Given the description of an element on the screen output the (x, y) to click on. 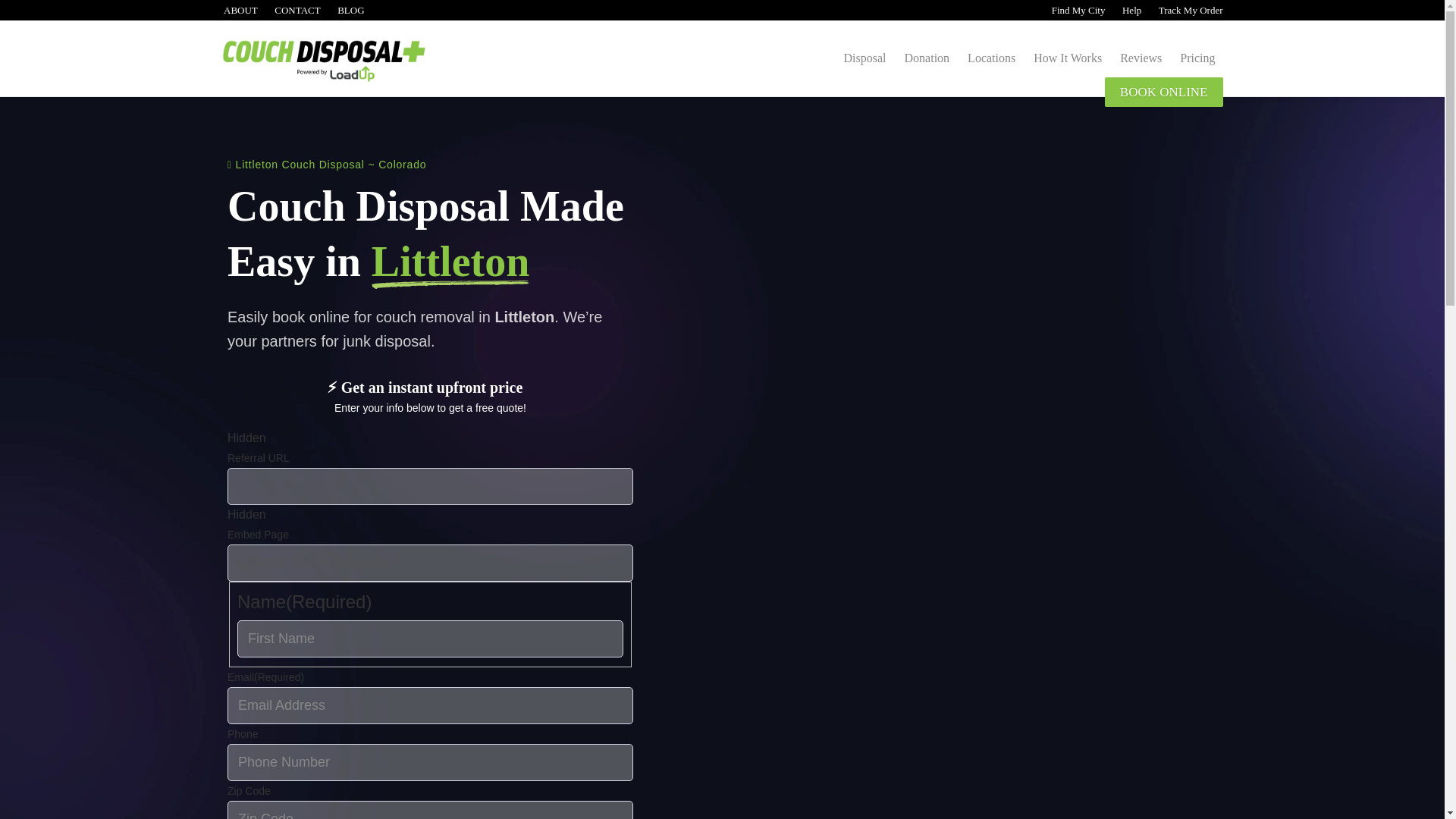
BLOG (350, 10)
How It Works (1067, 57)
Reviews (1140, 57)
Couch Disposal Plus (348, 65)
Locations (991, 57)
Pricing (1197, 57)
Find My City (1077, 10)
CONTACT (296, 10)
BOOK ONLINE (1164, 91)
Track My Order (1189, 10)
Find My City (1077, 10)
Help (1130, 10)
Donation (927, 57)
Disposal (864, 57)
ABOUT (239, 10)
